Given the description of an element on the screen output the (x, y) to click on. 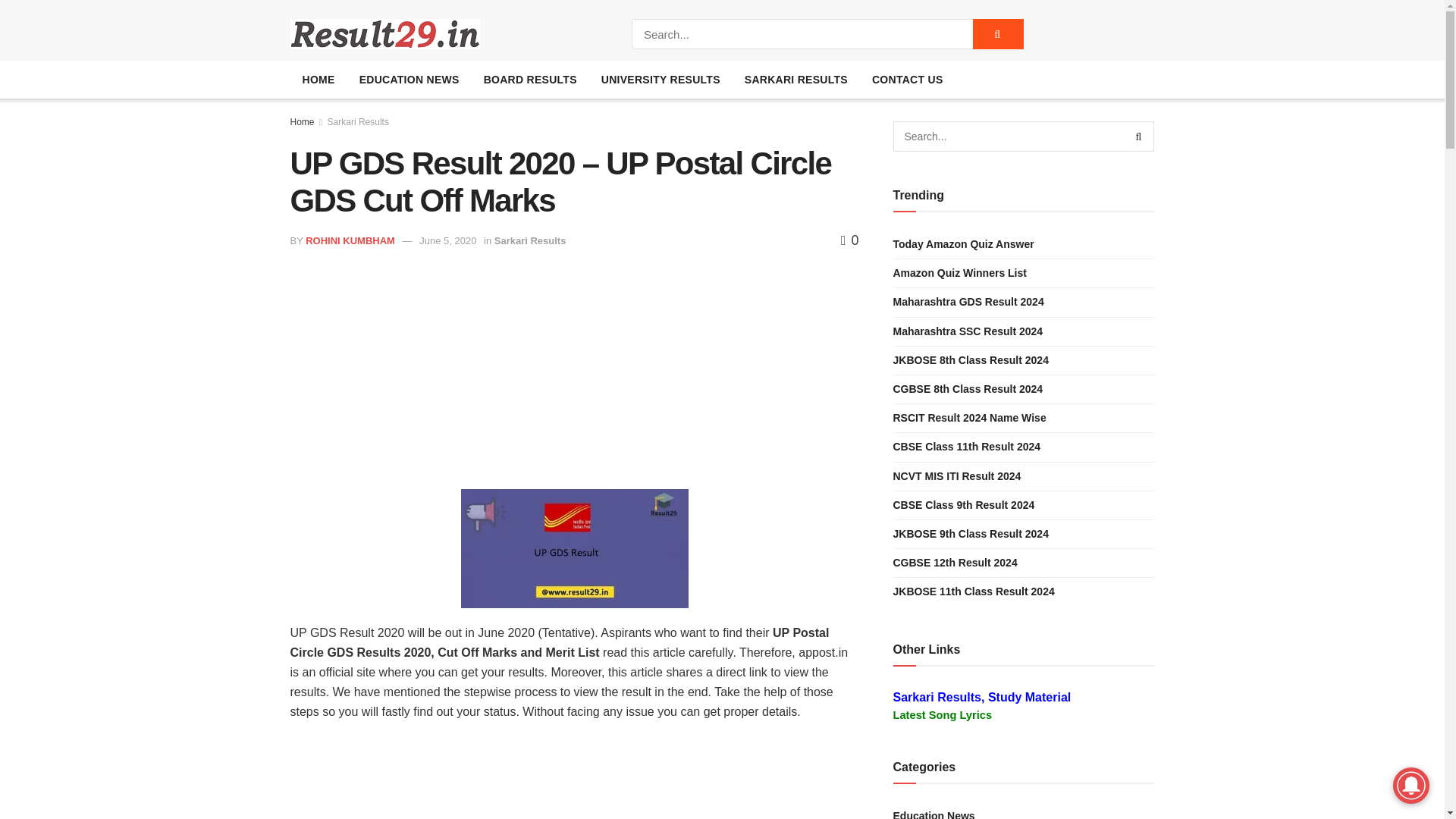
EDUCATION NEWS (409, 79)
Sarkari Results (530, 240)
Advertisement (574, 778)
BOARD RESULTS (530, 79)
June 5, 2020 (447, 240)
Home (301, 122)
ROHINI KUMBHAM (349, 240)
UNIVERSITY RESULTS (660, 79)
SARKARI RESULTS (796, 79)
0 (850, 240)
HOME (317, 79)
Sarkari Results (357, 122)
CONTACT US (907, 79)
Advertisement (574, 378)
